Given the description of an element on the screen output the (x, y) to click on. 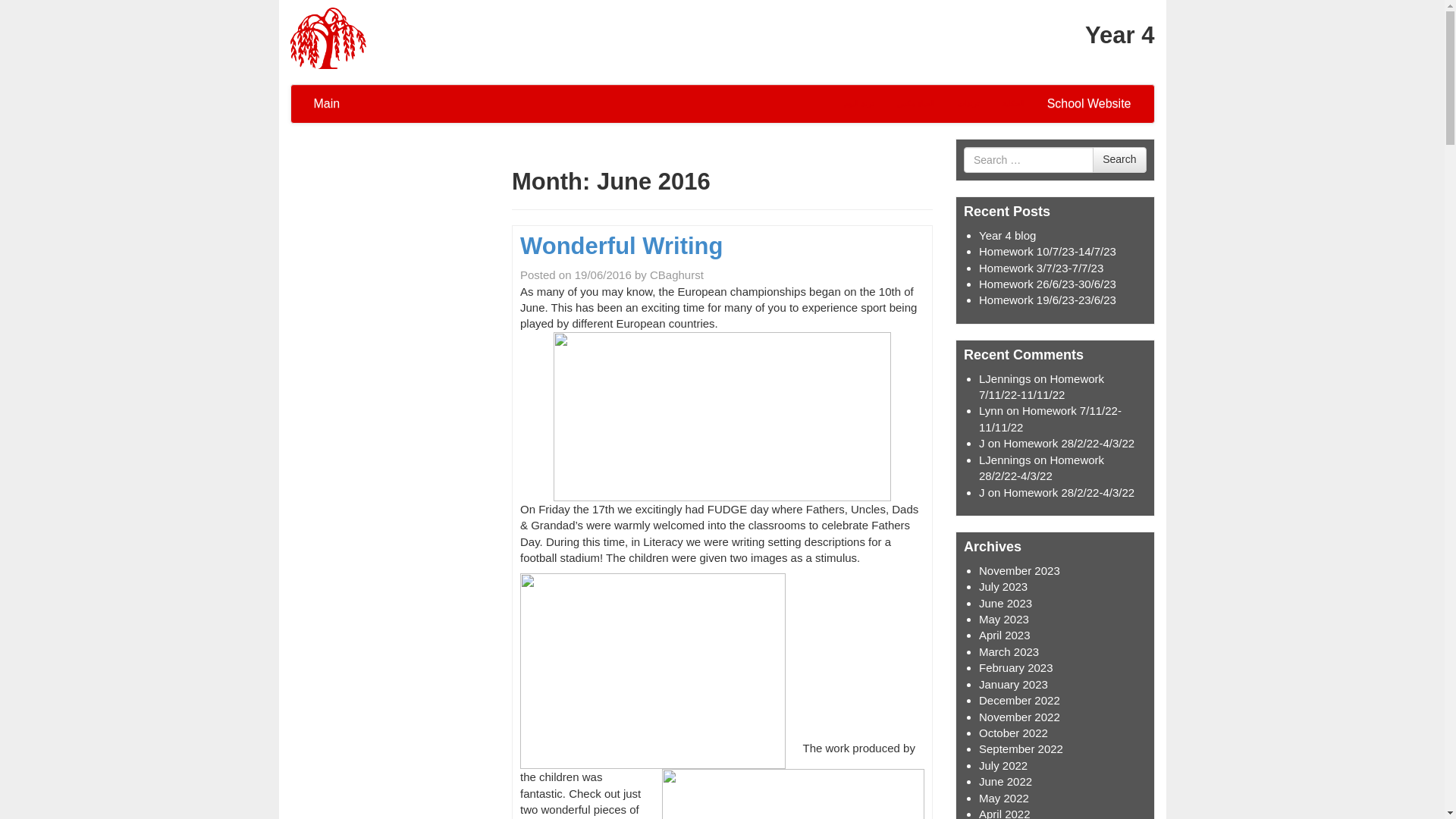
Search for: (1028, 159)
Wonderful Writing (620, 245)
View all posts by CBaghurst (676, 274)
16:10 (603, 274)
School Website (1088, 103)
CBaghurst (676, 274)
Main (325, 103)
Year 4 (327, 36)
